Given the description of an element on the screen output the (x, y) to click on. 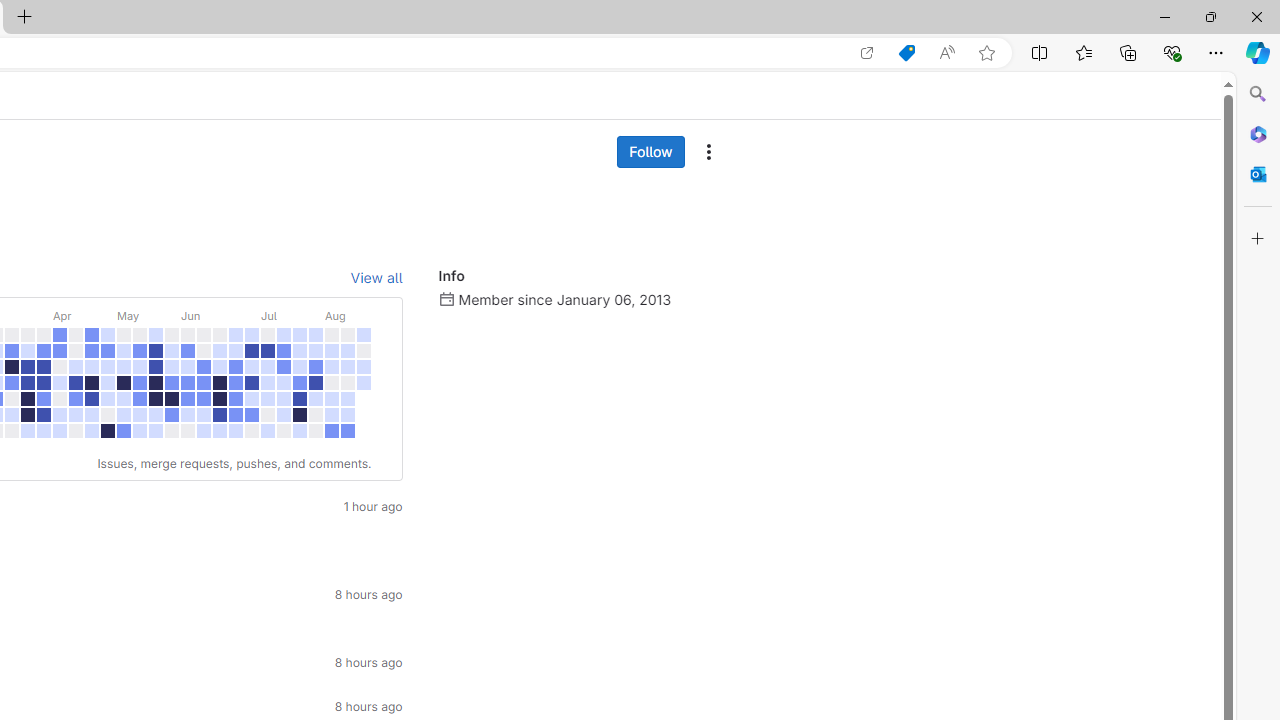
View all (376, 277)
